Given the description of an element on the screen output the (x, y) to click on. 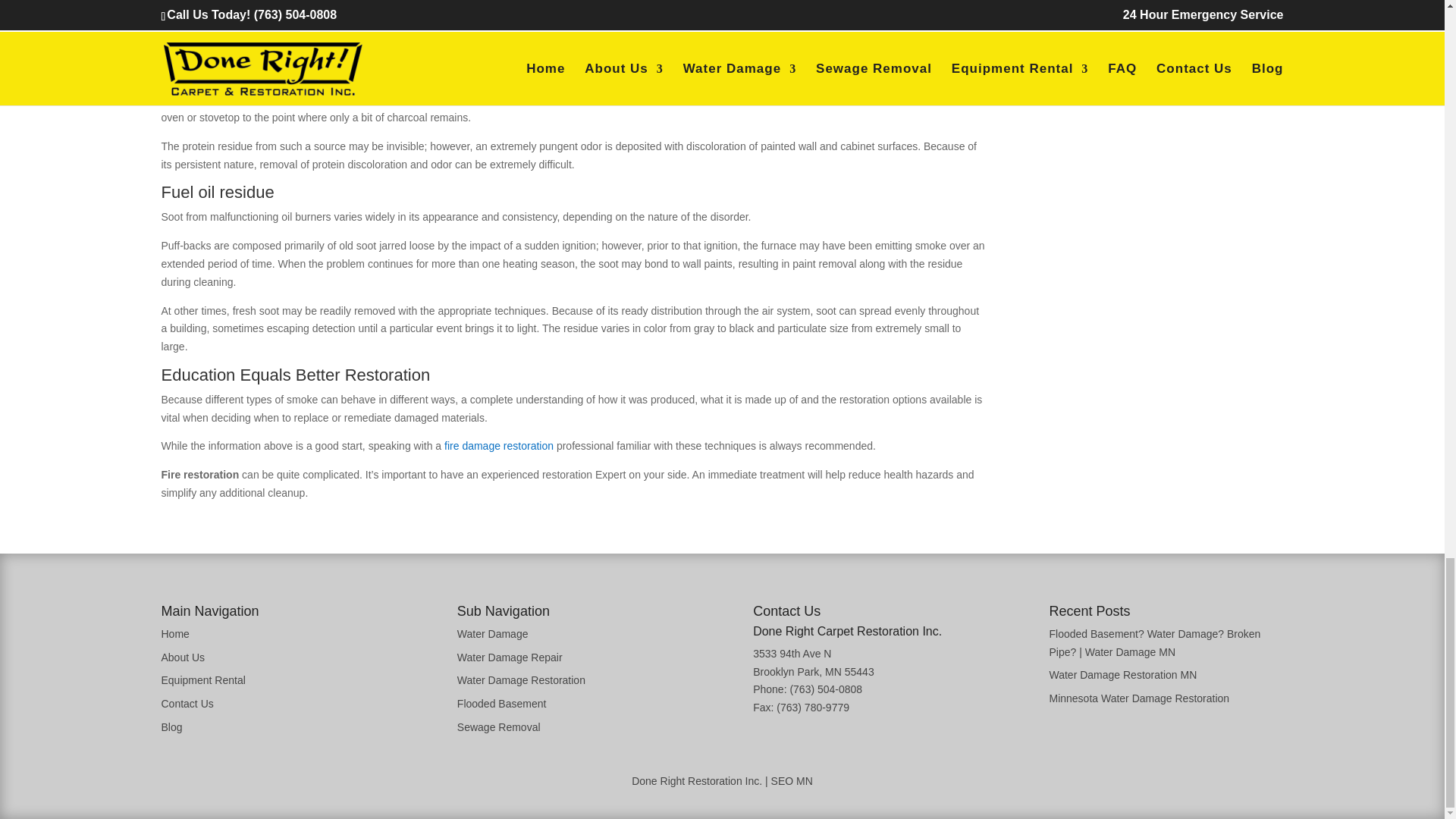
Fire Damage Restoration (498, 445)
